Given the description of an element on the screen output the (x, y) to click on. 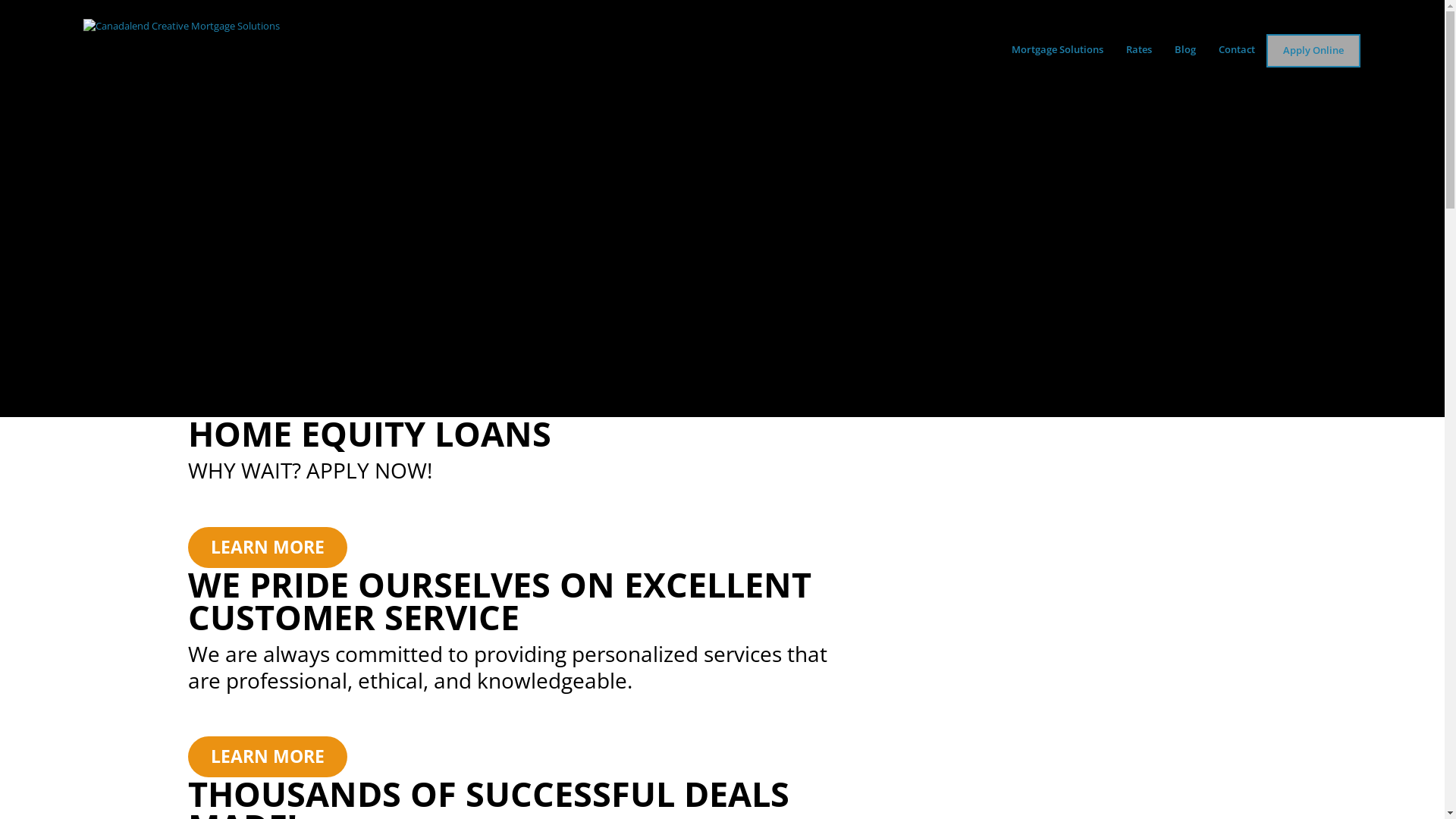
Contact Element type: text (1236, 49)
Mortgage Solutions Element type: text (1057, 49)
Rates Element type: text (1138, 49)
LEARN MORE Element type: text (267, 547)
LEARN MORE Element type: text (267, 756)
Apply Online Element type: text (1313, 50)
Blog Element type: text (1185, 49)
